Given the description of an element on the screen output the (x, y) to click on. 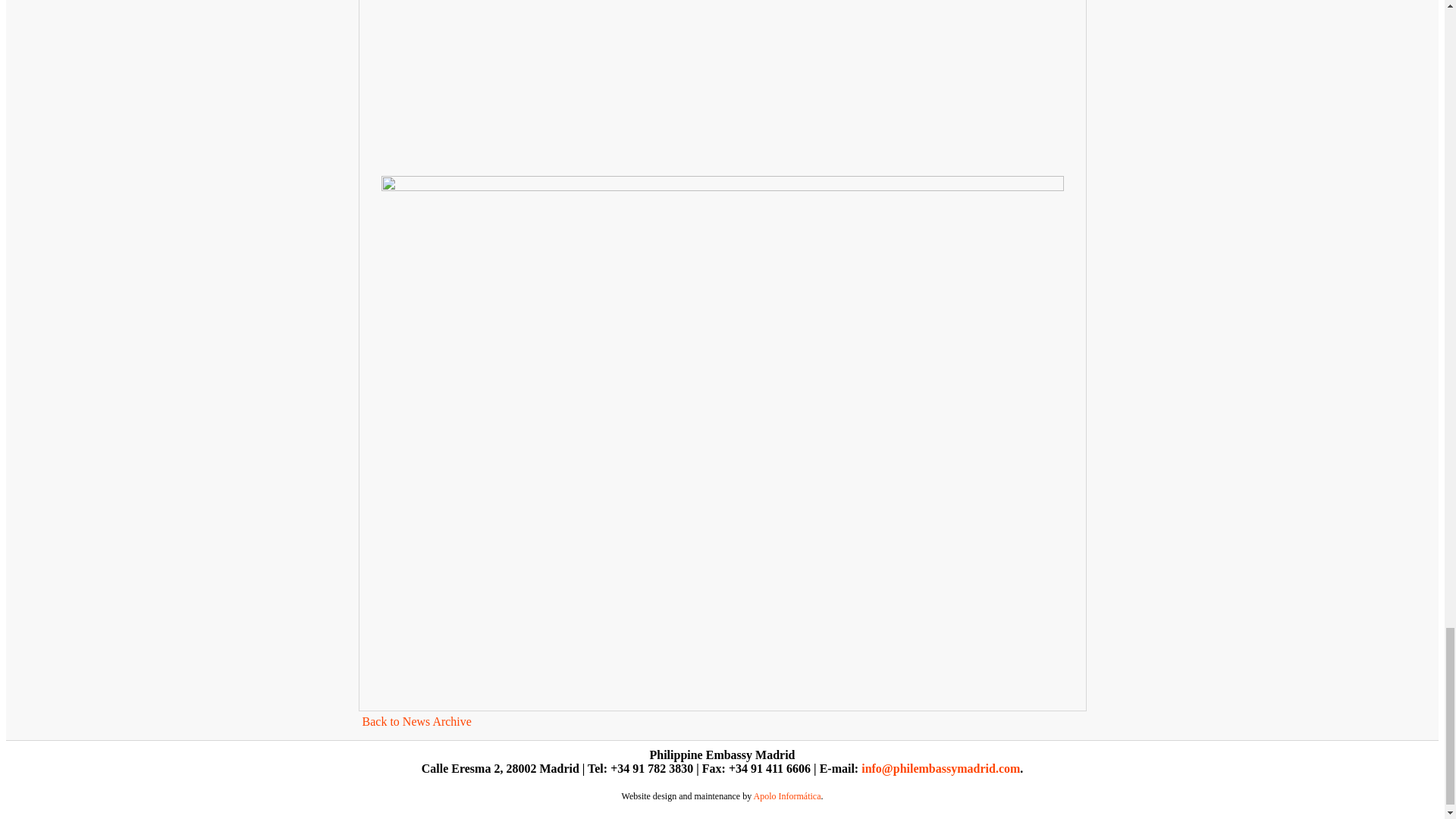
More in Latest News (416, 721)
Back to News Archive (416, 721)
